Given the description of an element on the screen output the (x, y) to click on. 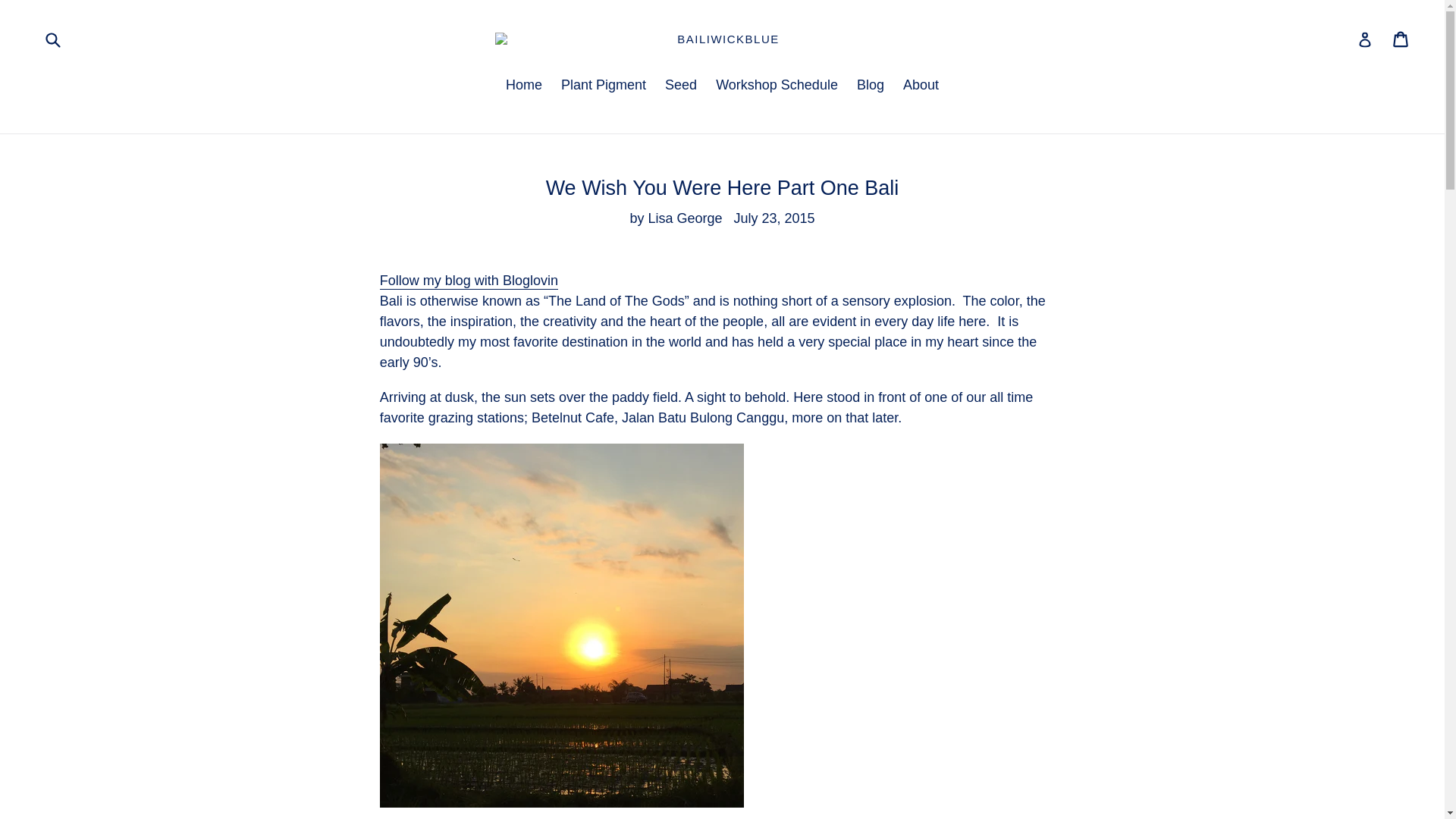
About (920, 86)
Workshop Schedule (776, 86)
Follow my blog with Bloglovin (468, 280)
Home (523, 86)
Seed (681, 86)
Blog (869, 86)
Plant Pigment (603, 86)
